Given the description of an element on the screen output the (x, y) to click on. 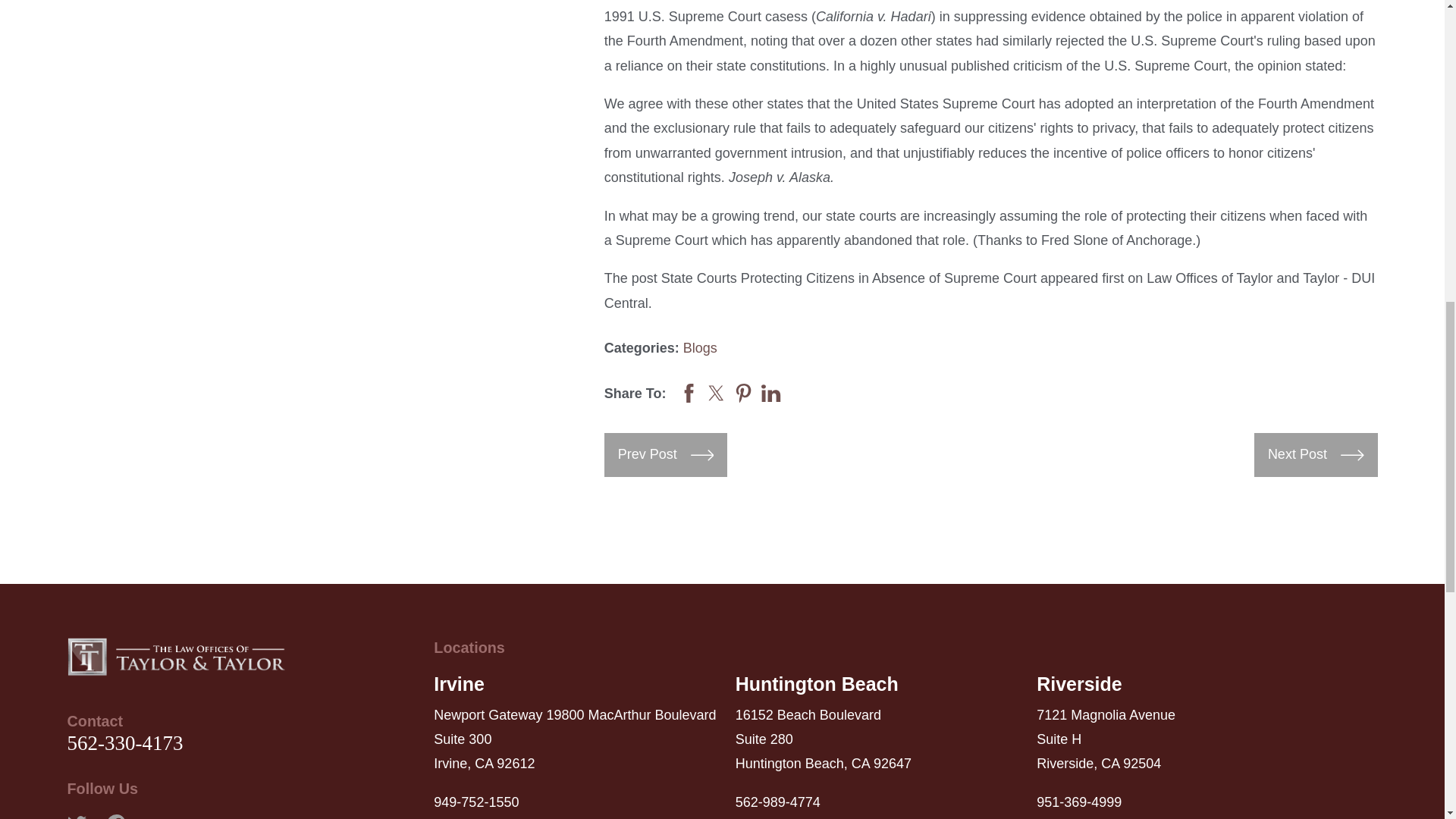
Twitter (75, 816)
Home (175, 656)
Facebook (115, 816)
